Given the description of an element on the screen output the (x, y) to click on. 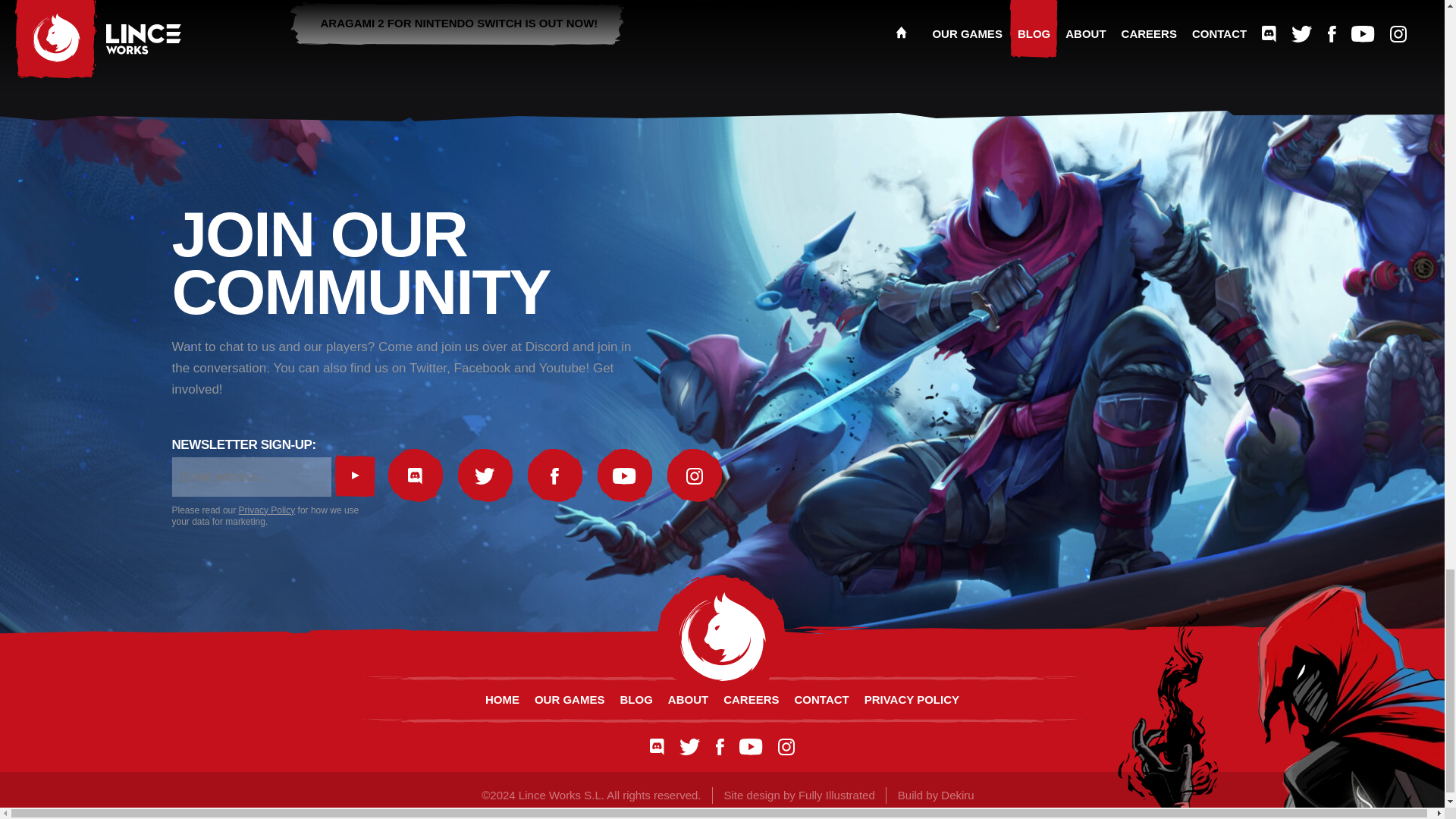
Twitter (485, 475)
Instagram (694, 475)
website development for the video games industry (957, 794)
Facebook (554, 475)
HOME (501, 698)
Privacy Policy (266, 510)
ARAGAMI 2 FOR NINTENDO SWITCH IS OUT NOW! (458, 23)
CAREERS (750, 698)
Discord (415, 475)
YouTube (750, 746)
Twitter (689, 746)
Discord (656, 746)
OUR GAMES (569, 698)
YouTube (624, 475)
